Given the description of an element on the screen output the (x, y) to click on. 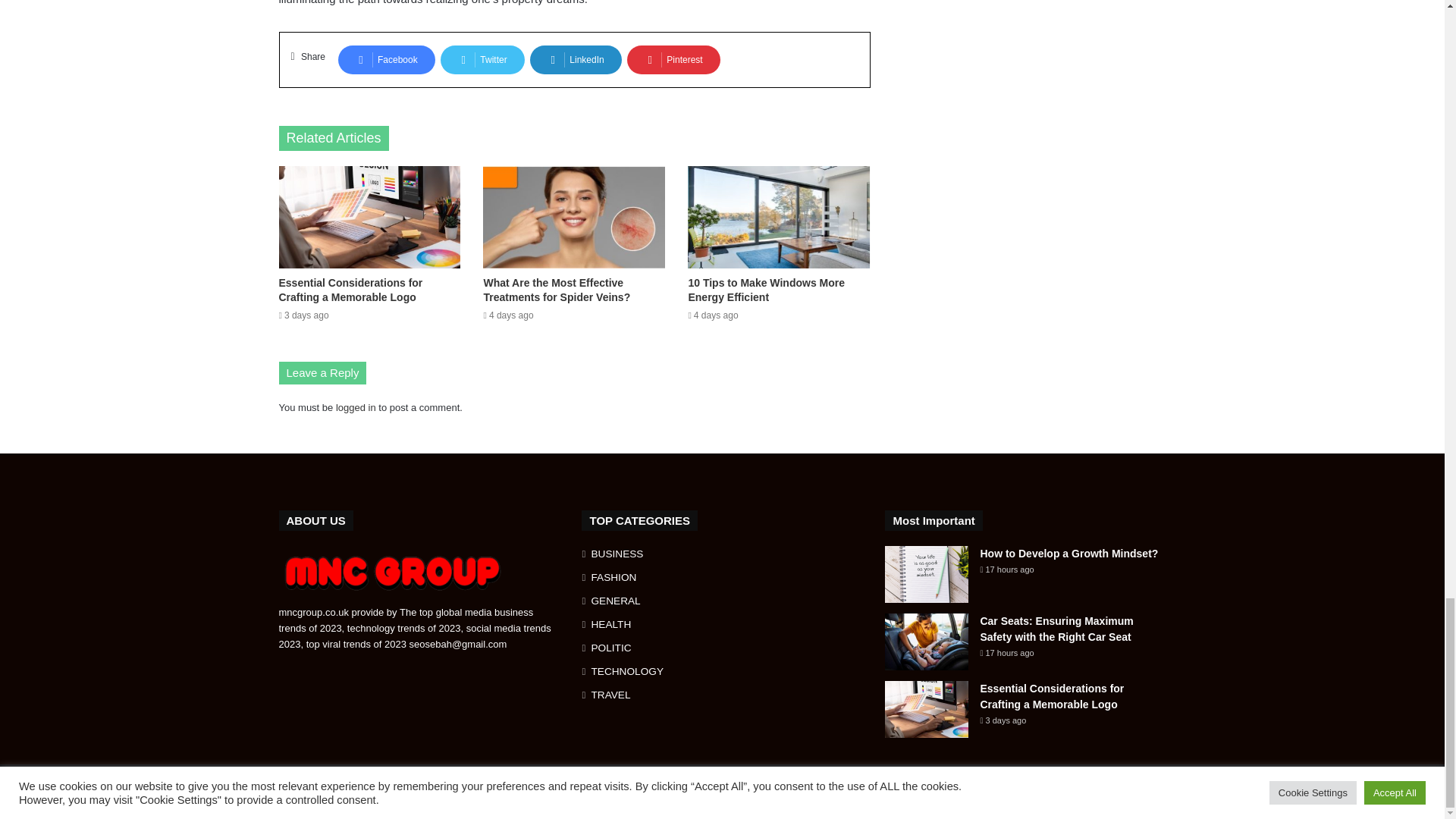
Twitter (482, 59)
LinkedIn (575, 59)
What Are the Most Effective Treatments for Spider Veins? (556, 289)
Pinterest (673, 59)
Facebook (386, 59)
Essential Considerations for Crafting a Memorable Logo (351, 289)
